Given the description of an element on the screen output the (x, y) to click on. 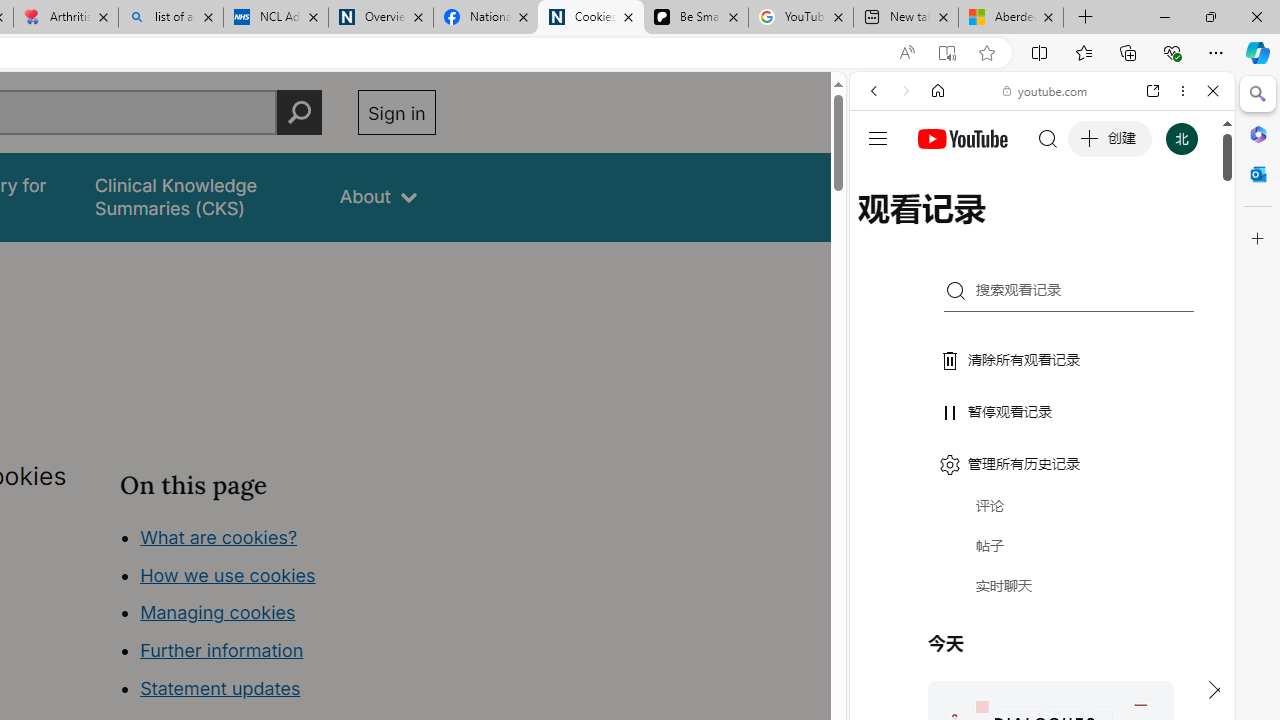
Managing cookies (217, 612)
How we use cookies (227, 574)
Class: in-page-nav__list (277, 615)
Aberdeen, Hong Kong SAR hourly forecast | Microsoft Weather (1010, 17)
Enter Immersive Reader (F9) (946, 53)
Preferences (1189, 228)
Forward (906, 91)
Music (1042, 543)
